Given the description of an element on the screen output the (x, y) to click on. 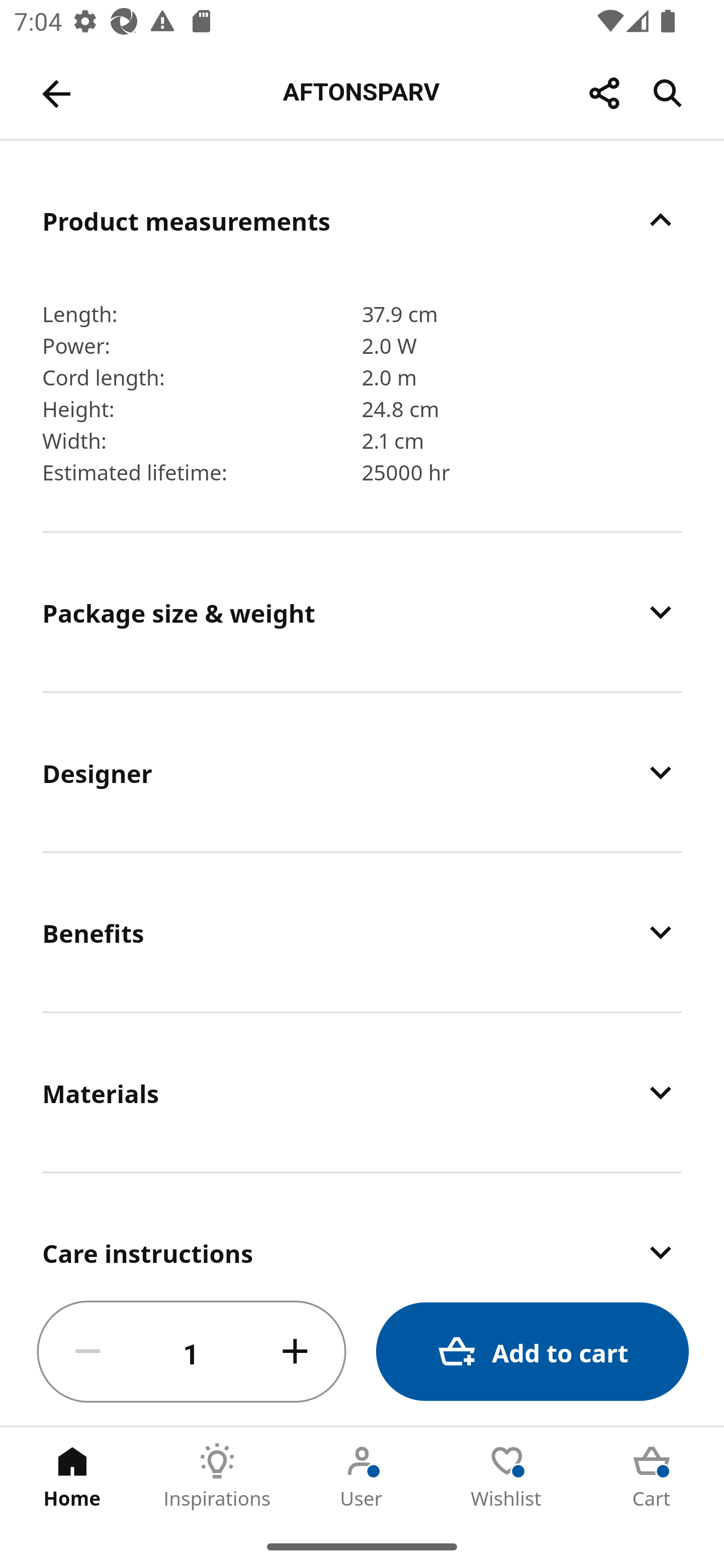
Product measurements (361, 219)
Package size & weight (361, 611)
Designer (361, 771)
Benefits (361, 931)
Materials (361, 1091)
Care instructions (361, 1225)
Add to cart (531, 1352)
1 (191, 1352)
Home
Tab 1 of 5 (72, 1476)
Inspirations
Tab 2 of 5 (216, 1476)
User
Tab 3 of 5 (361, 1476)
Wishlist
Tab 4 of 5 (506, 1476)
Cart
Tab 5 of 5 (651, 1476)
